Given the description of an element on the screen output the (x, y) to click on. 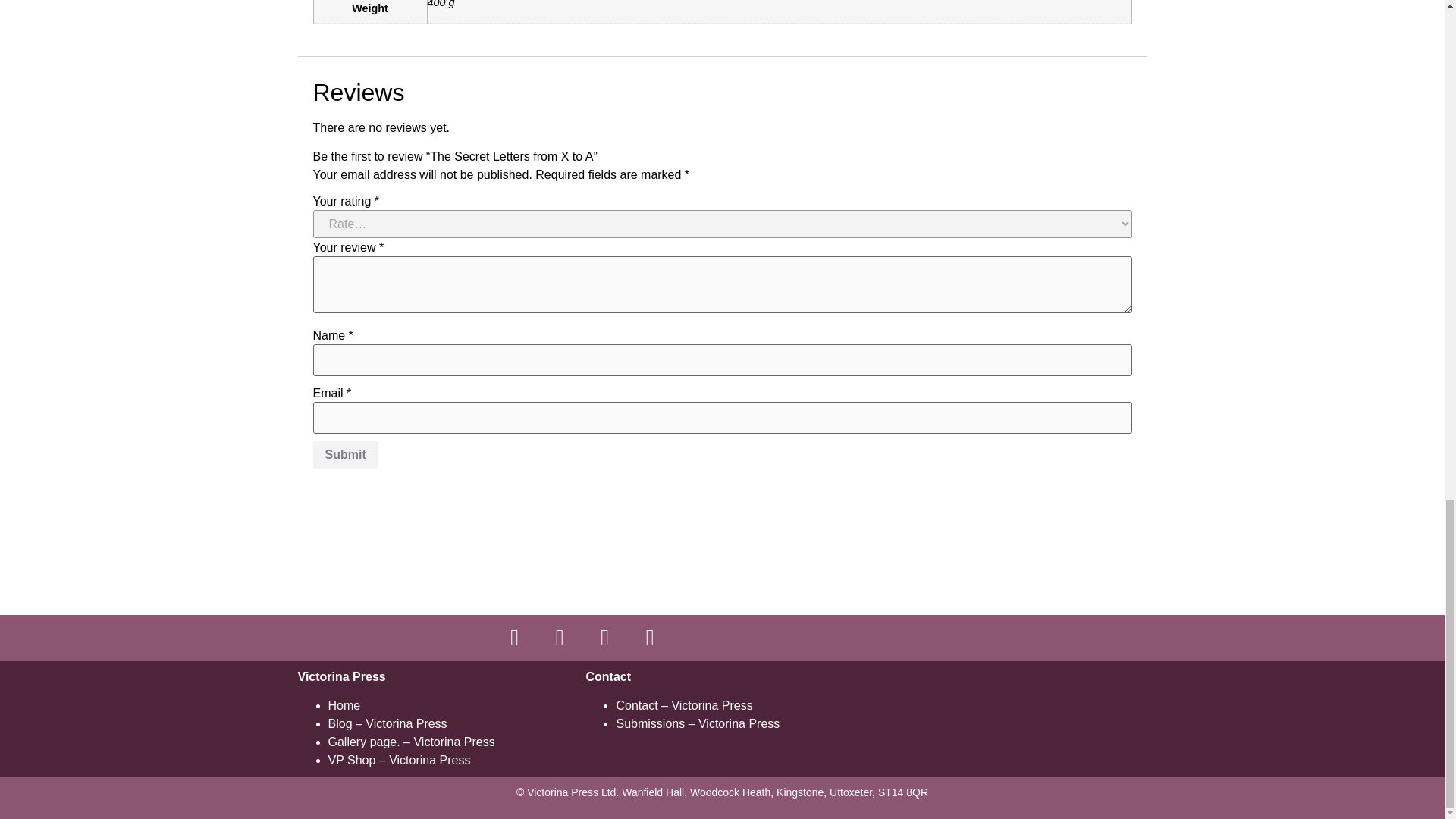
Submit (345, 454)
Submit (345, 454)
